Given the description of an element on the screen output the (x, y) to click on. 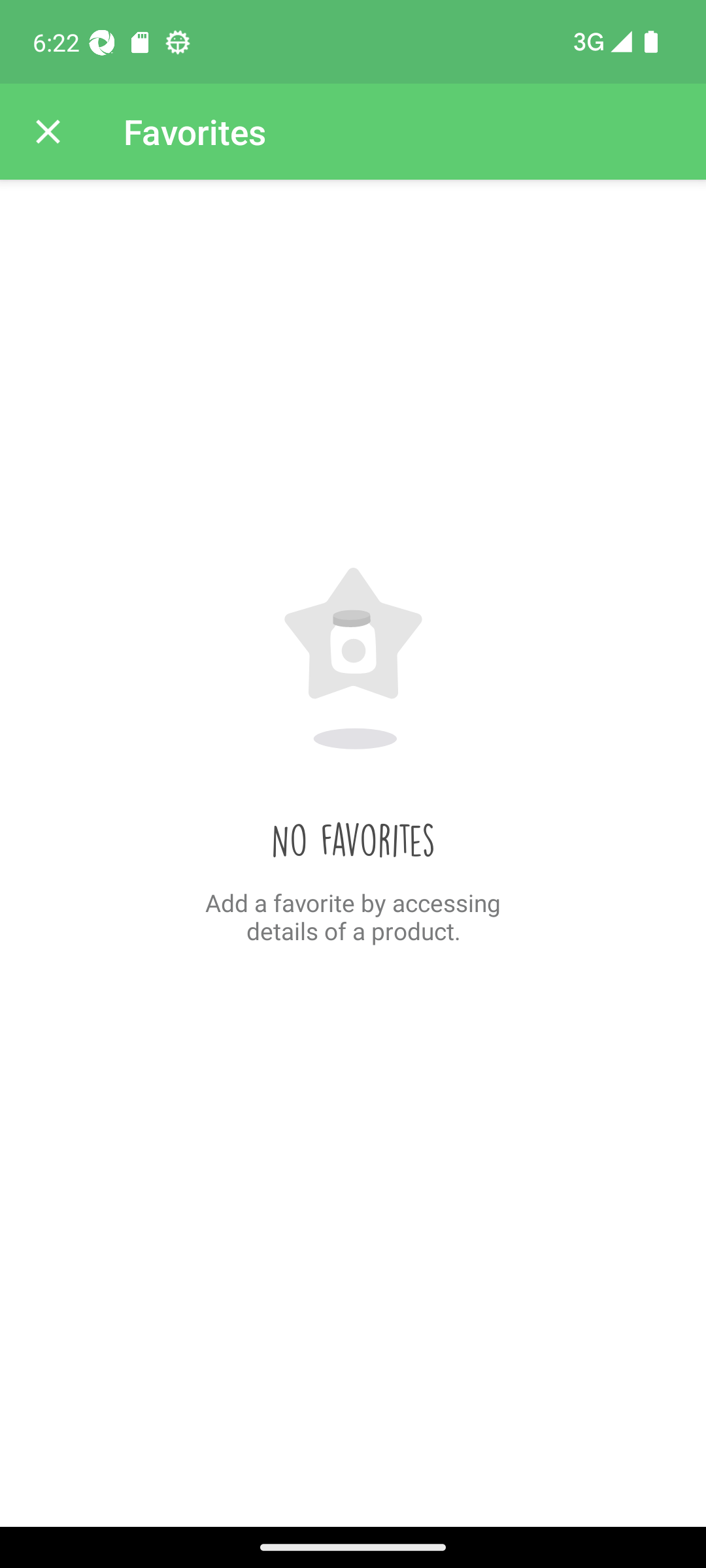
Navigate up (48, 131)
